Given the description of an element on the screen output the (x, y) to click on. 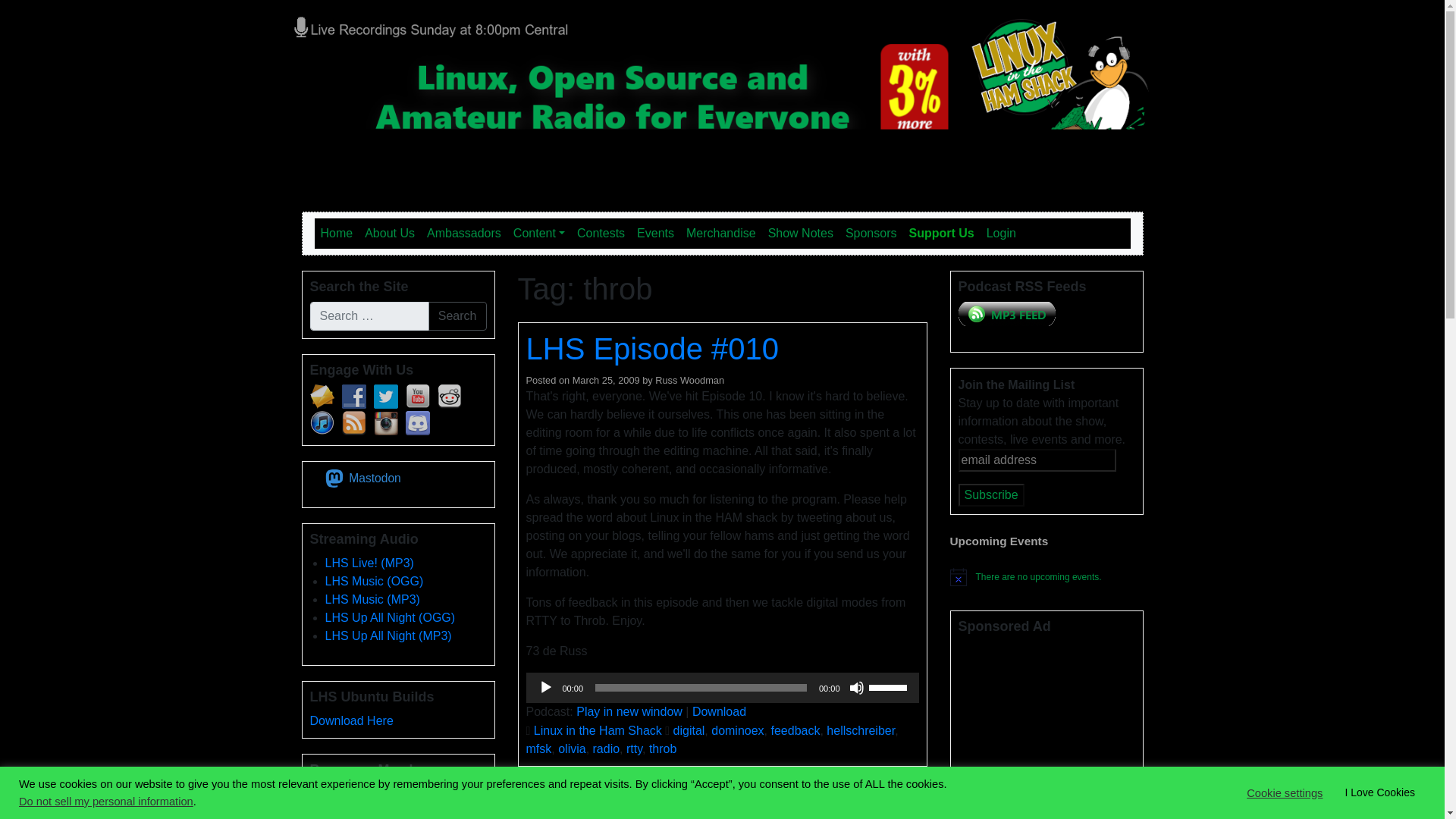
Engage with us via Facebook (352, 396)
Content (538, 233)
Engage with us via YouTube (416, 396)
Show Notes (800, 233)
Search (457, 316)
Mastodon (365, 478)
Engage with us via iTunes (320, 422)
Contests (600, 233)
Subscribe (991, 495)
Download Here (350, 720)
